Given the description of an element on the screen output the (x, y) to click on. 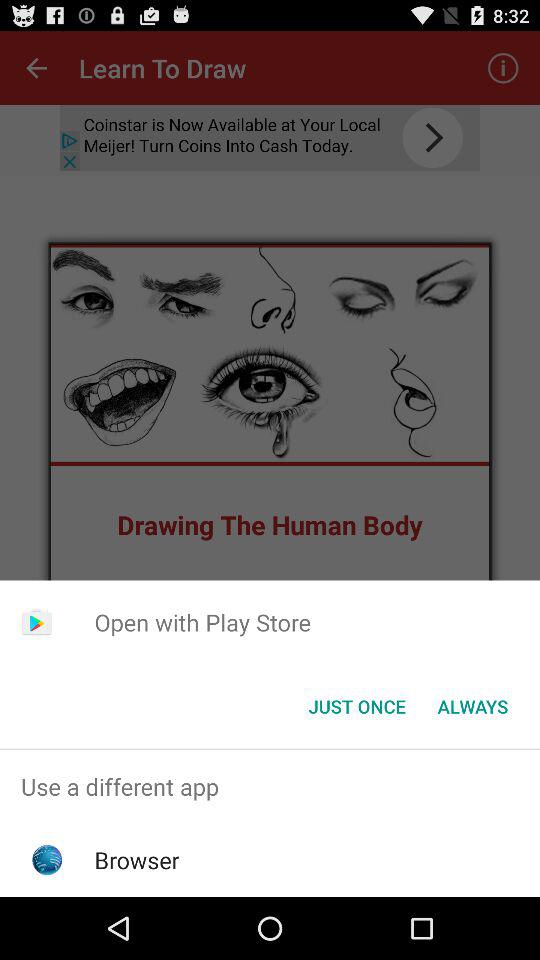
turn on button next to the just once item (472, 706)
